Given the description of an element on the screen output the (x, y) to click on. 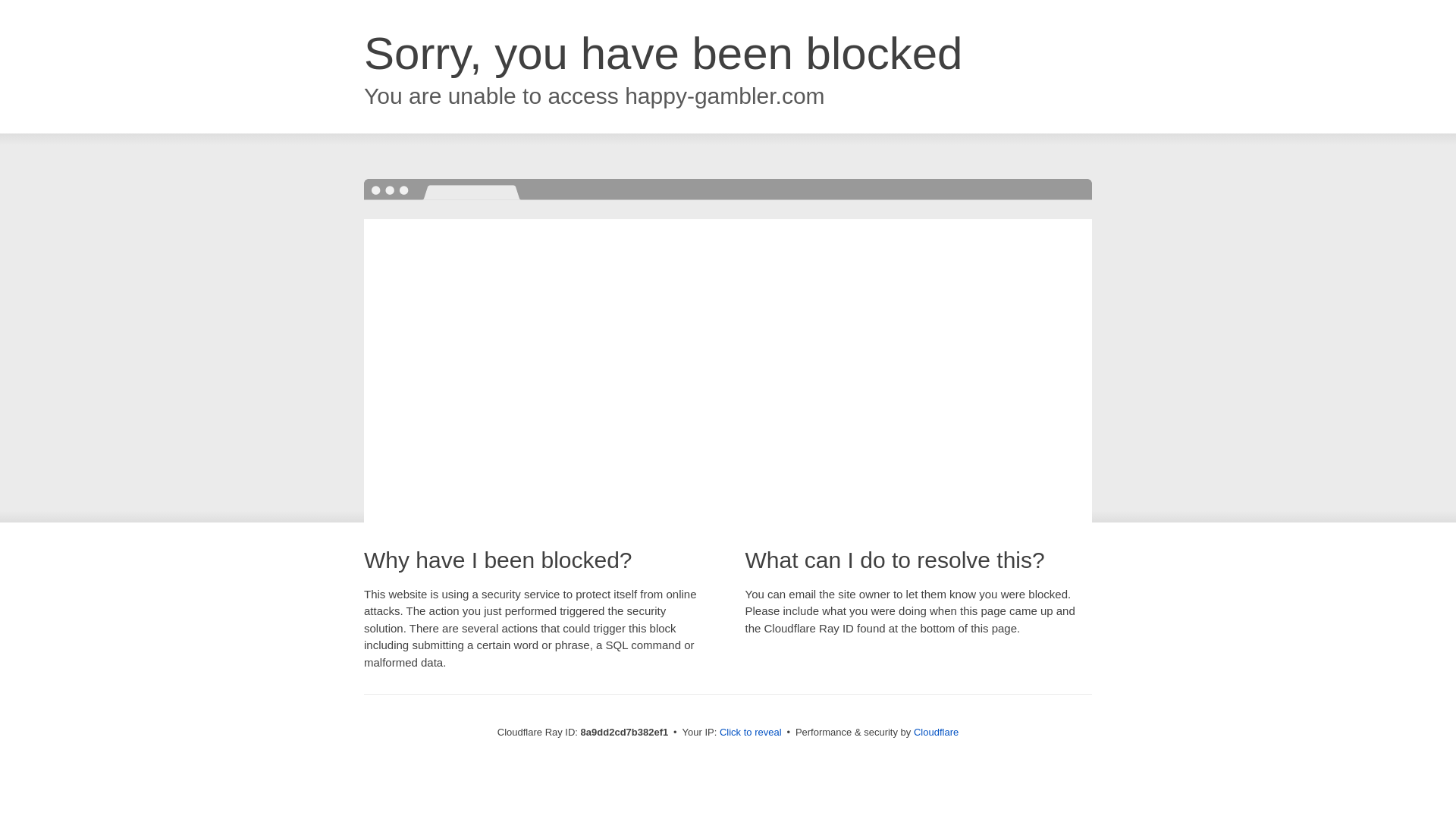
Click to reveal (750, 732)
Cloudflare (936, 731)
